Given the description of an element on the screen output the (x, y) to click on. 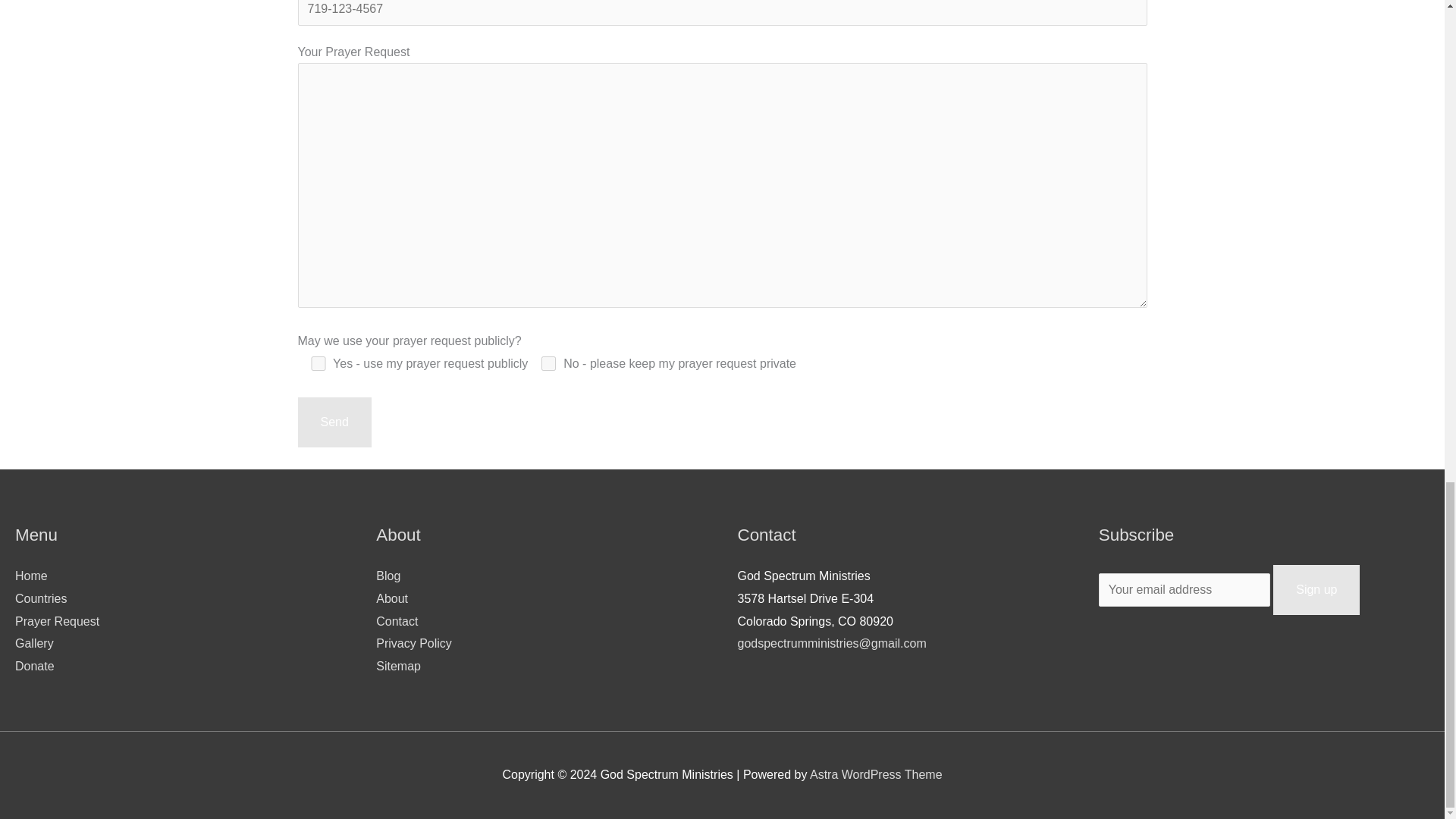
Home (31, 575)
Sign up (1315, 590)
Blog (387, 575)
Send (334, 422)
Privacy Policy (413, 643)
Countries (40, 598)
No - please keep my prayer request private (548, 363)
Yes - use my prayer request publicly (317, 363)
Sitemap (397, 666)
Astra WordPress Theme (875, 774)
Contact (396, 621)
Gallery (33, 643)
Prayer Request (56, 621)
About (391, 598)
Sign up (1315, 590)
